Given the description of an element on the screen output the (x, y) to click on. 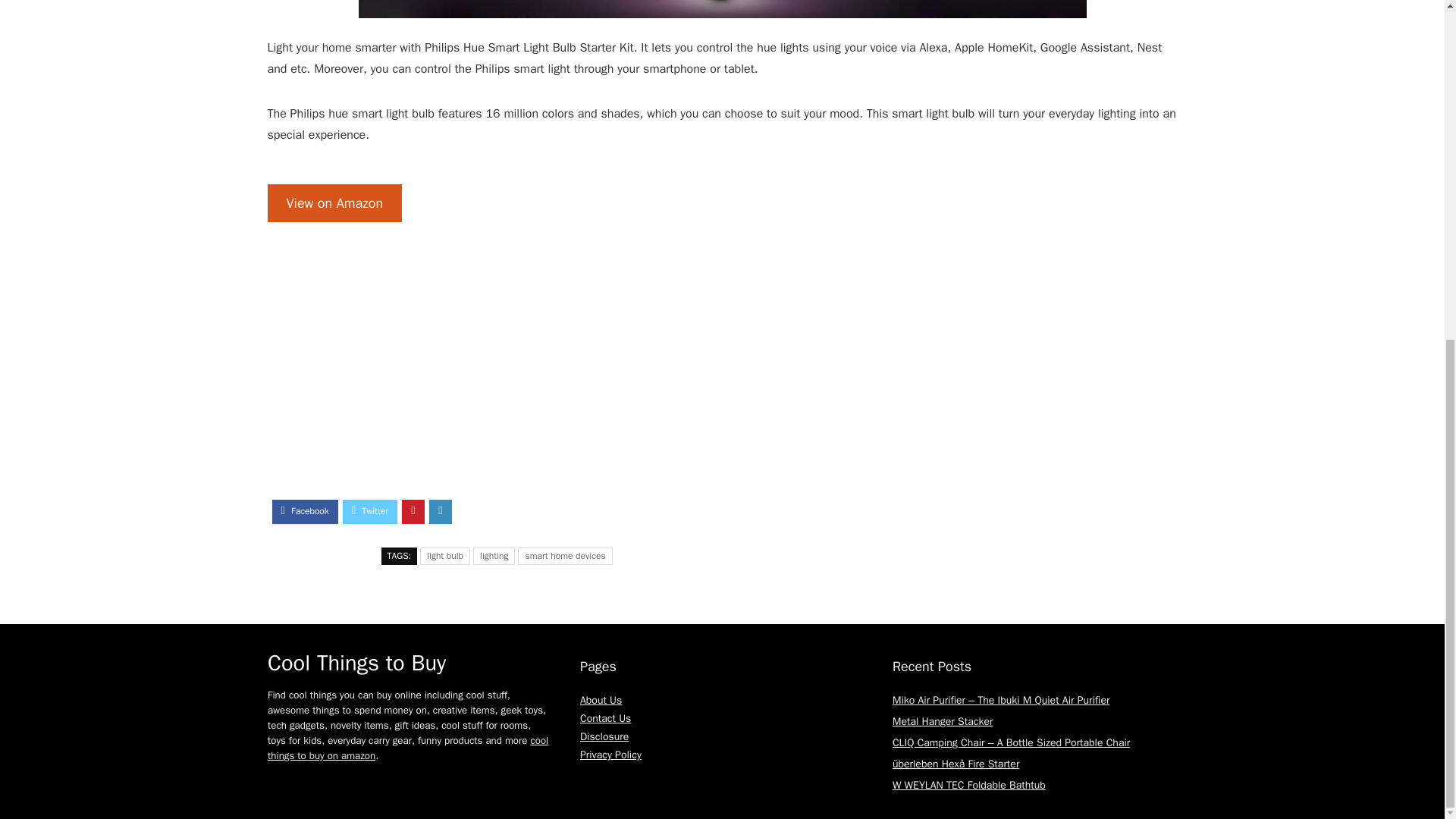
Privacy Policy (610, 754)
Metal Hanger Stacker (942, 721)
lighting (494, 556)
light bulb (445, 556)
View on Amazon (333, 202)
Disclosure (603, 736)
About Us (600, 699)
smart home devices (564, 556)
Contact Us (604, 717)
cool things to buy on amazon (407, 747)
